Given the description of an element on the screen output the (x, y) to click on. 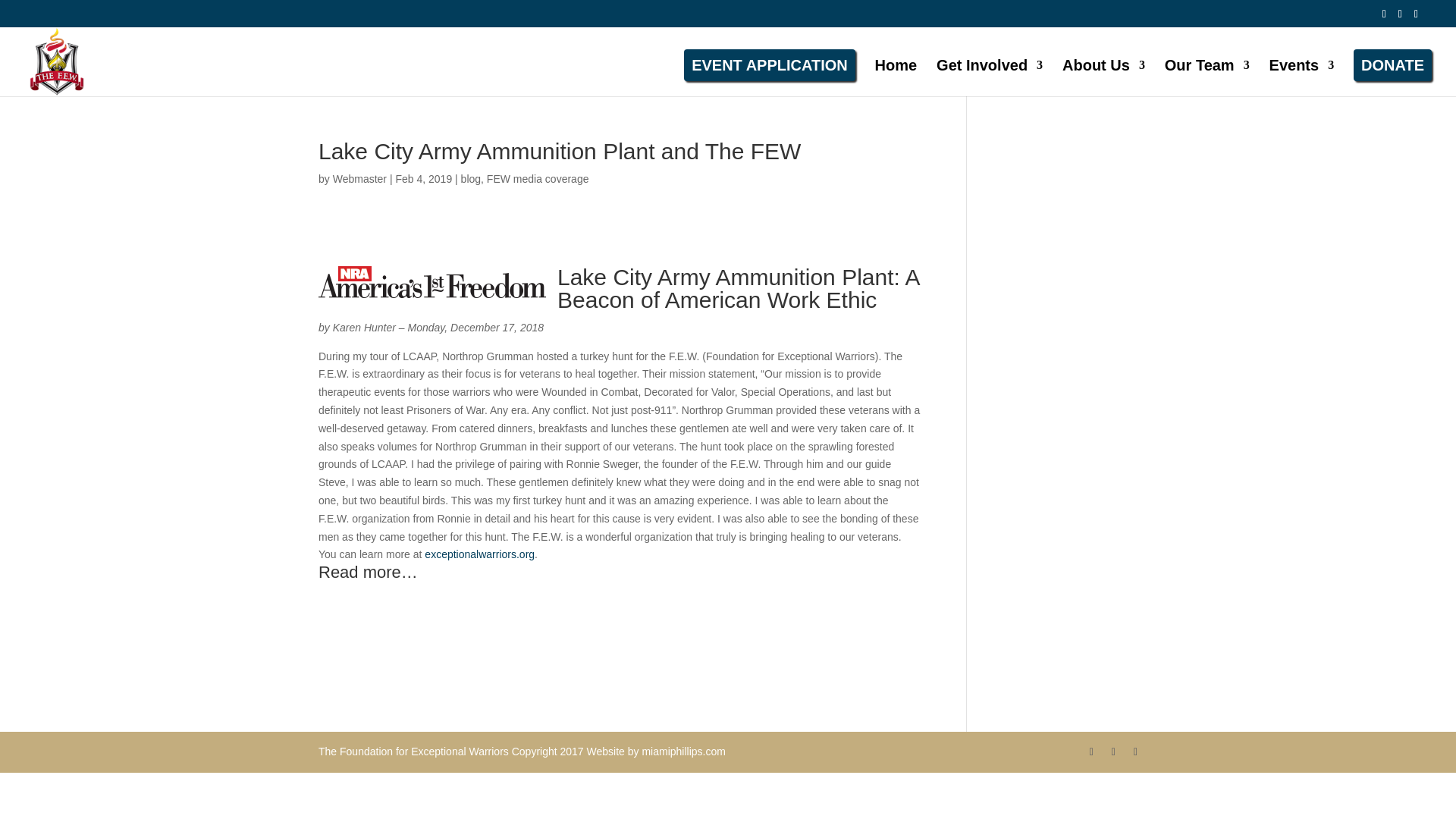
EVENT APPLICATION (770, 65)
Posts by Webmaster (360, 178)
Get Involved (989, 74)
About Us (1103, 74)
DONATE (1392, 65)
Our Team (1206, 74)
Events (1302, 74)
Home (896, 74)
